Given the description of an element on the screen output the (x, y) to click on. 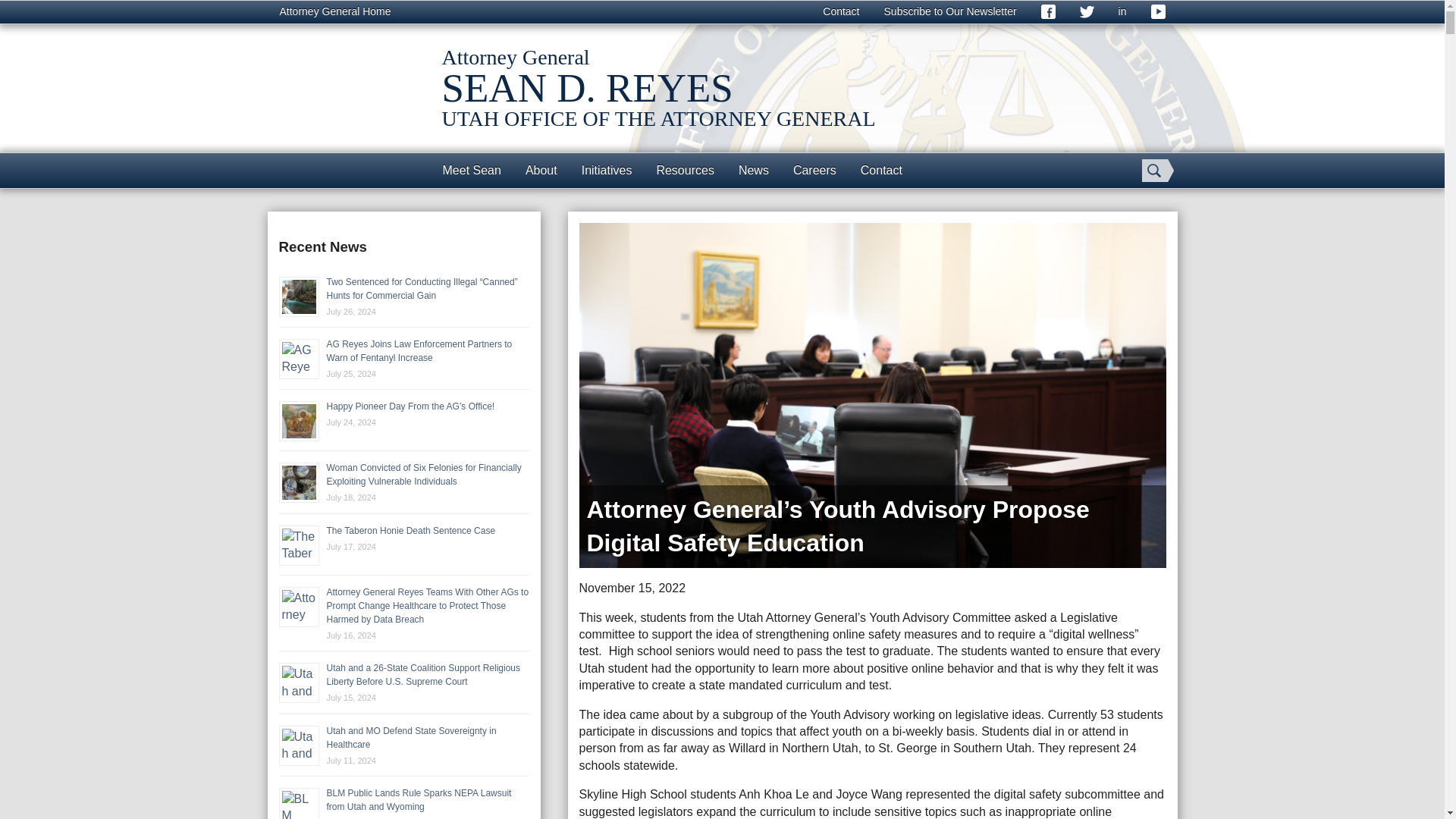
Contact (840, 11)
Initiatives (607, 170)
Subscribe to Our Newsletter (950, 11)
Utah Office of the Attorney General (342, 103)
in (1122, 11)
YouTube (1157, 11)
Twitter (1086, 11)
About (541, 170)
Facebook (1048, 11)
Attorney General Home (334, 11)
Meet Sean (471, 170)
Resources (684, 170)
